Given the description of an element on the screen output the (x, y) to click on. 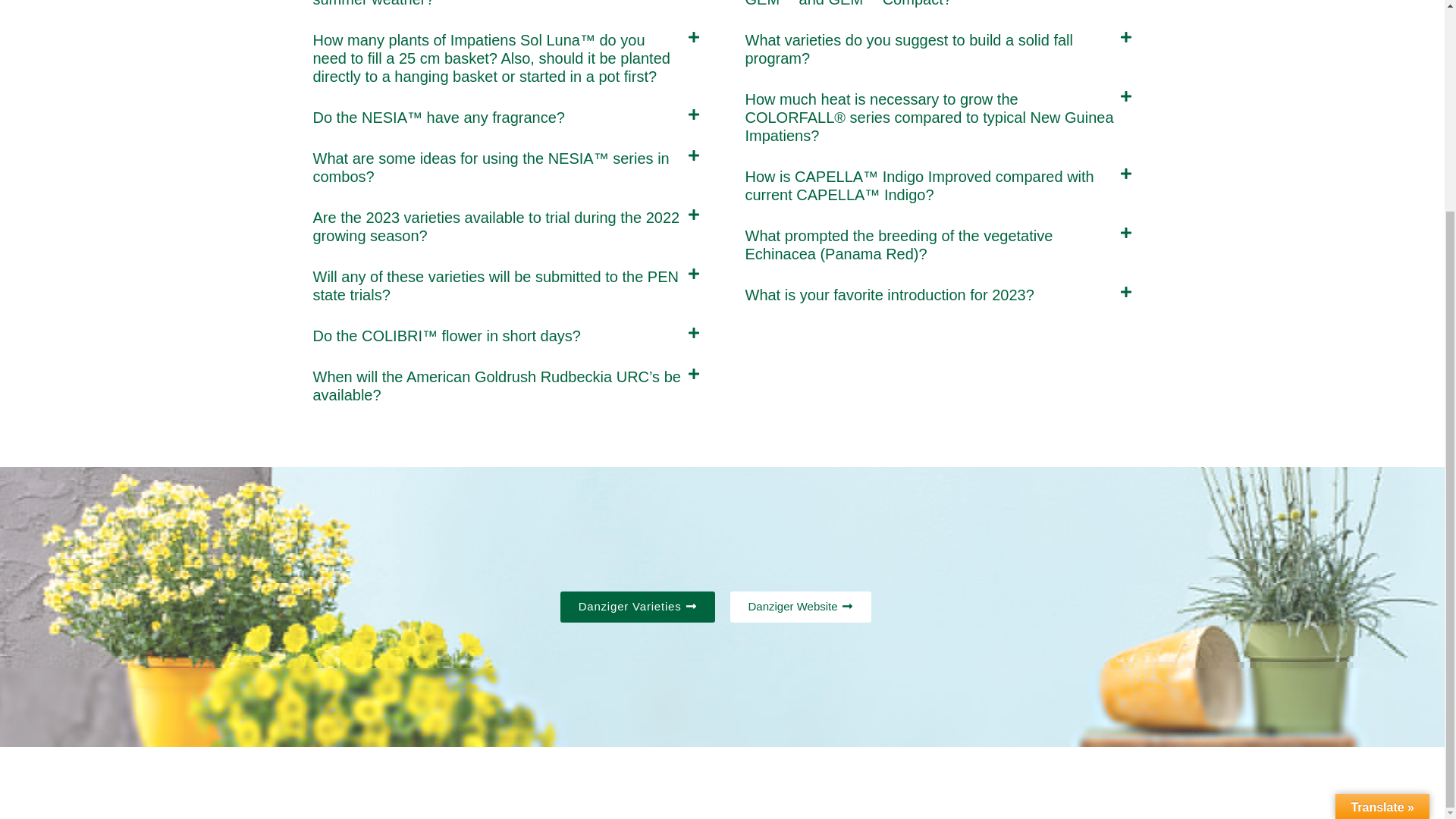
Danziger Website (799, 606)
What is your favorite introduction for 2023? (888, 294)
Danziger Varieties (637, 606)
What varieties do you suggest to build a solid fall program? (907, 48)
